Given the description of an element on the screen output the (x, y) to click on. 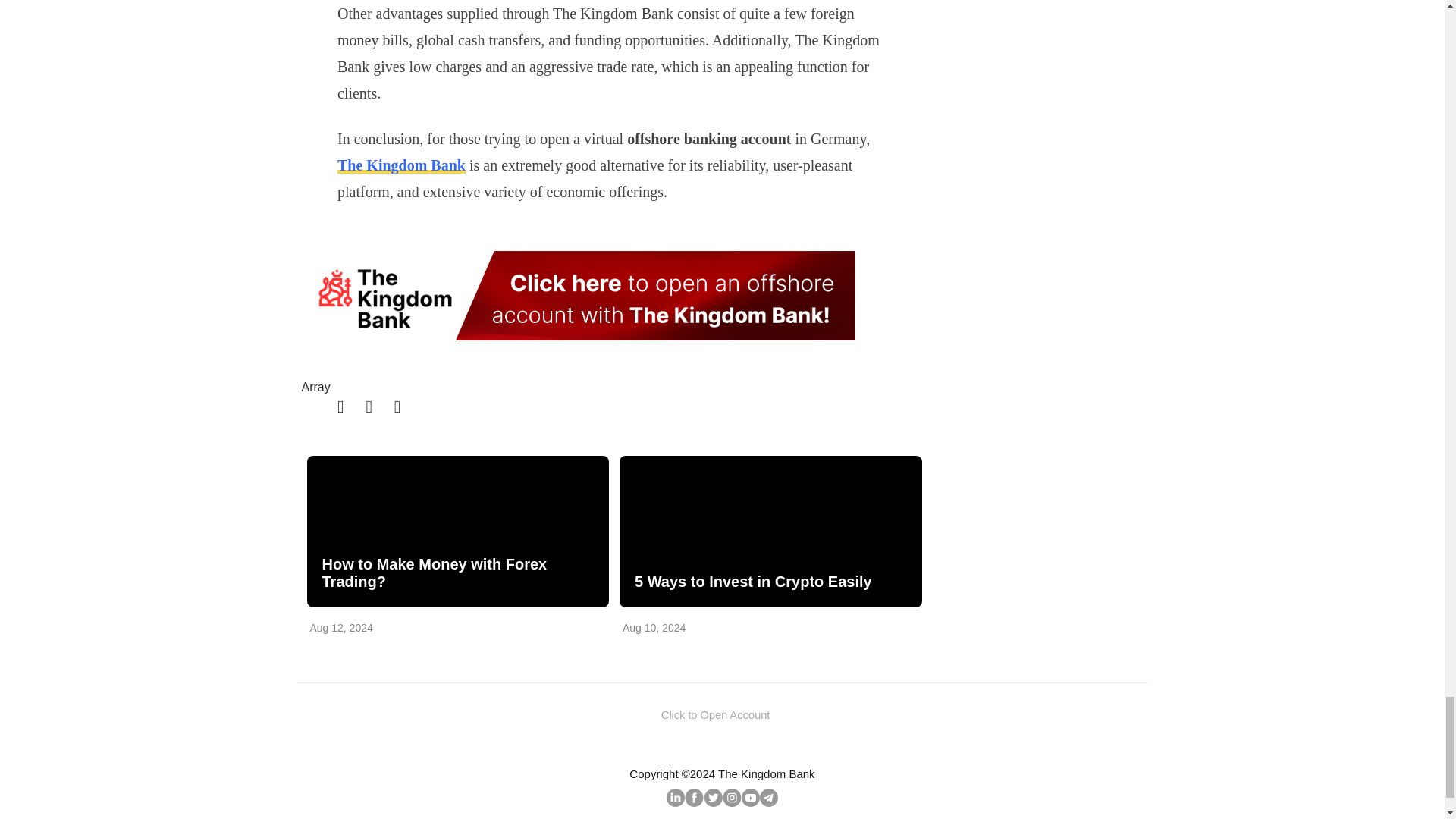
How to Make Money with Forex Trading? (456, 531)
5 Ways to Invest in Crypto Easily (769, 581)
5 Ways to Invest in Crypto Easily (770, 531)
How to Make Money with Forex Trading? (456, 573)
The Kingdom Bank (401, 165)
